Given the description of an element on the screen output the (x, y) to click on. 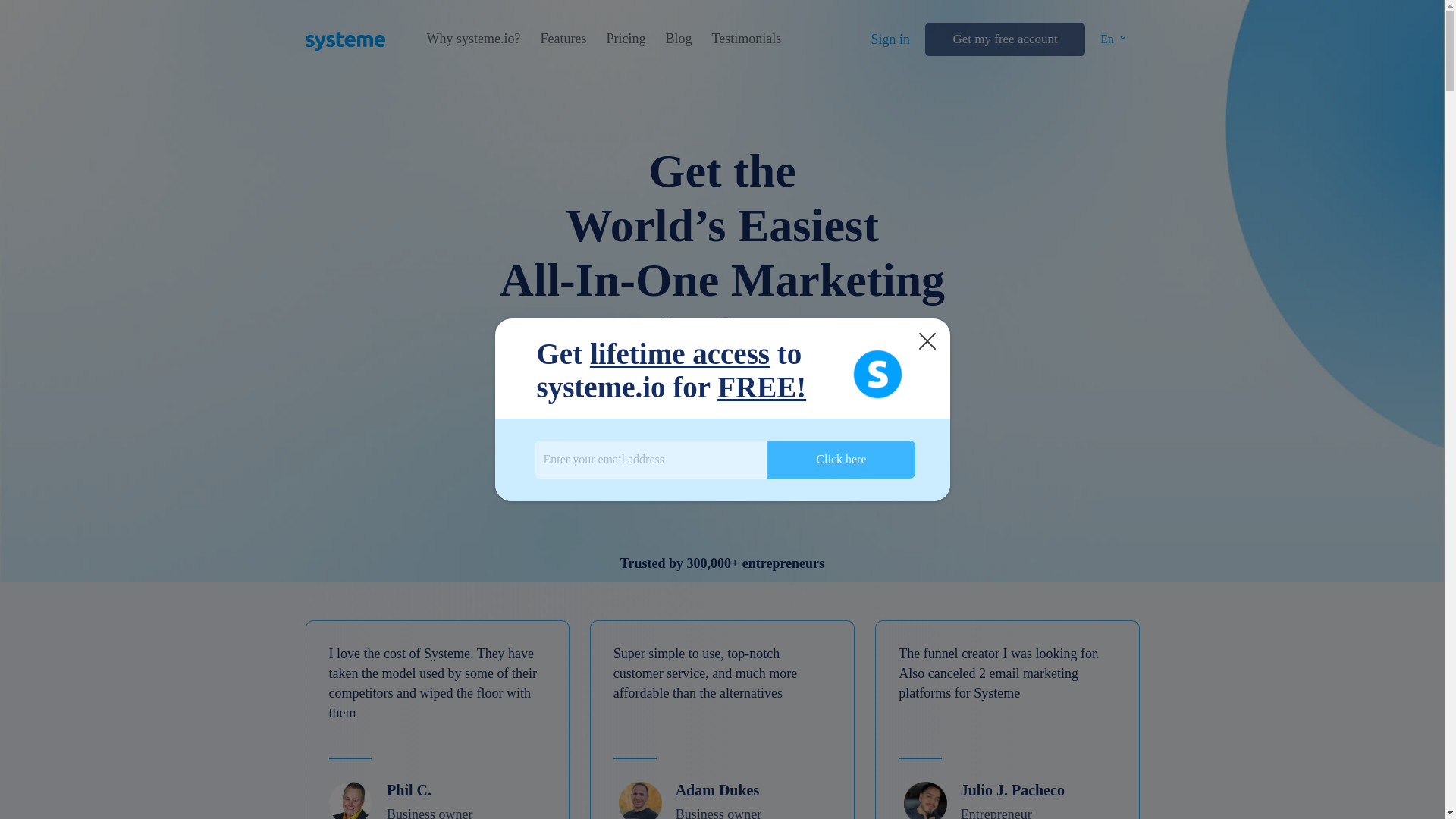
Features (563, 38)
Why systeme.io? (472, 38)
Sign in (890, 39)
Testimonials (745, 38)
Blog (678, 38)
Pricing (625, 38)
Get my free account (1004, 39)
